Given the description of an element on the screen output the (x, y) to click on. 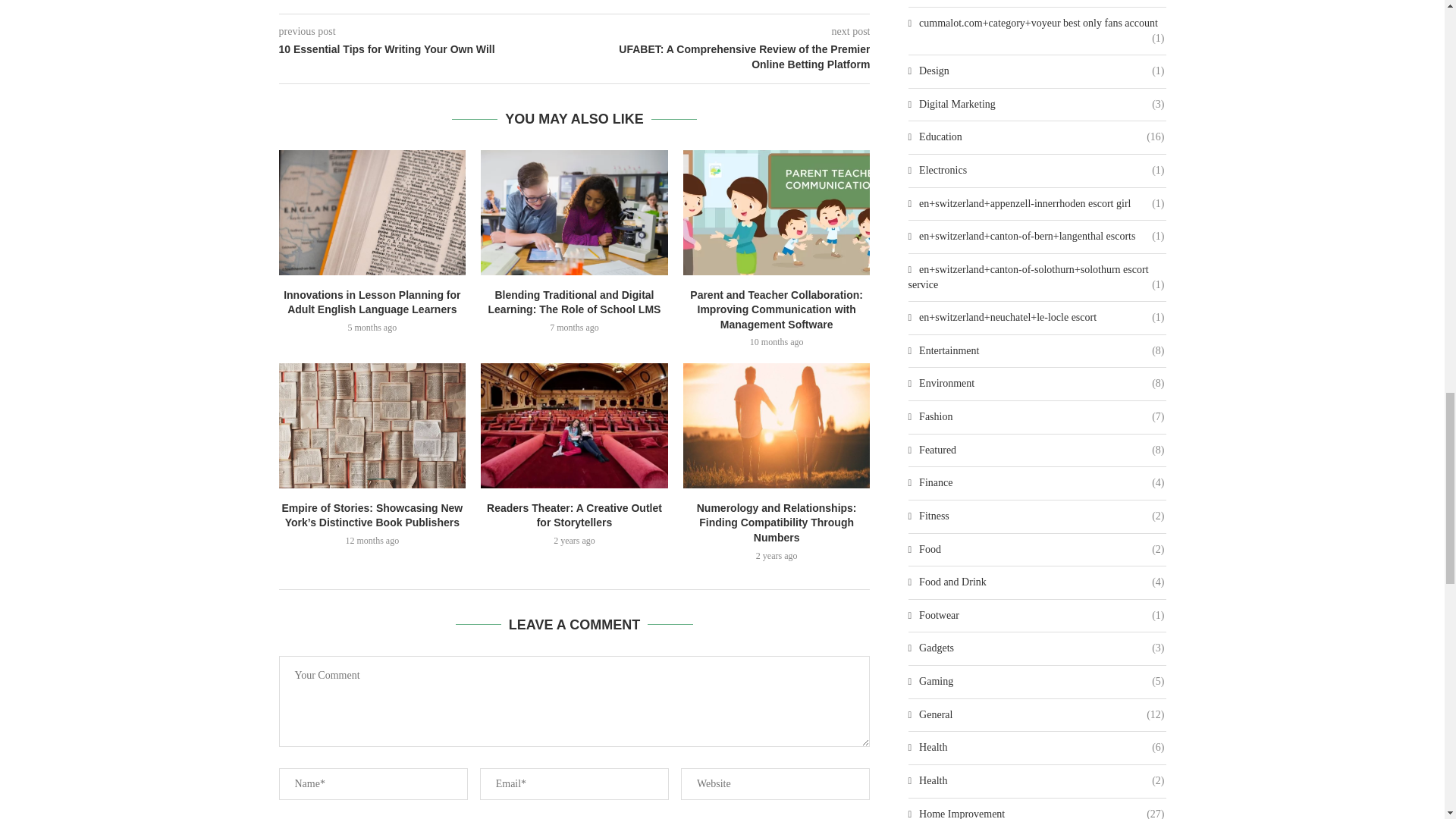
Readers Theater: A Creative Outlet for Storytellers (574, 425)
